Given the description of an element on the screen output the (x, y) to click on. 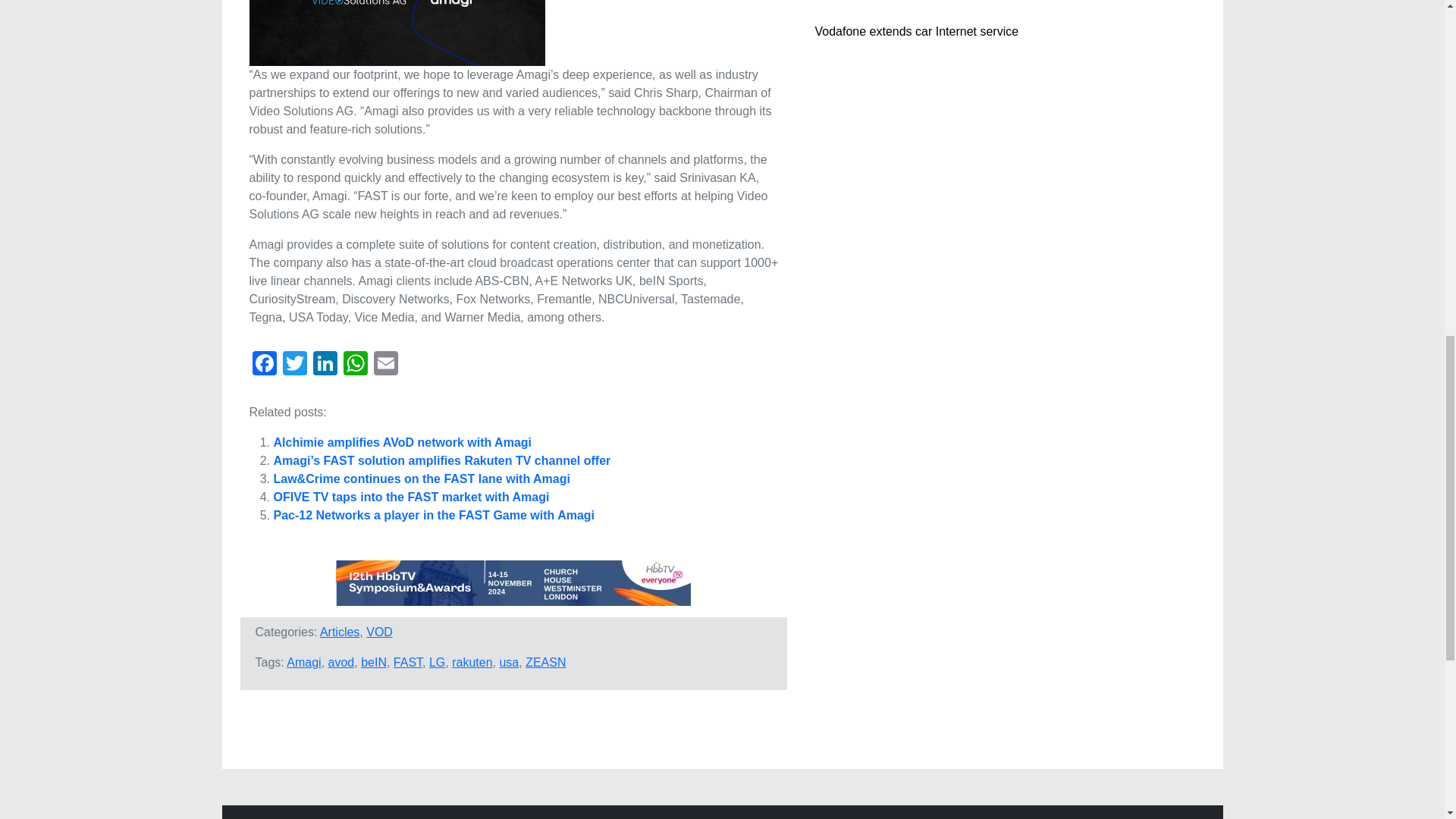
Articles (339, 631)
Email (384, 365)
FAST (407, 662)
WhatsApp (354, 365)
Alchimie amplifies AVoD network with Amagi (402, 441)
usa (508, 662)
OFIVE TV taps into the FAST market with Amagi (410, 496)
Amagi (303, 662)
LinkedIn (323, 365)
Twitter (293, 365)
Pac-12 Networks a player in the FAST Game with Amagi (433, 514)
Alchimie amplifies AVoD network with Amagi (402, 441)
Facebook (263, 365)
beIN (374, 662)
ZEASN (545, 662)
